Given the description of an element on the screen output the (x, y) to click on. 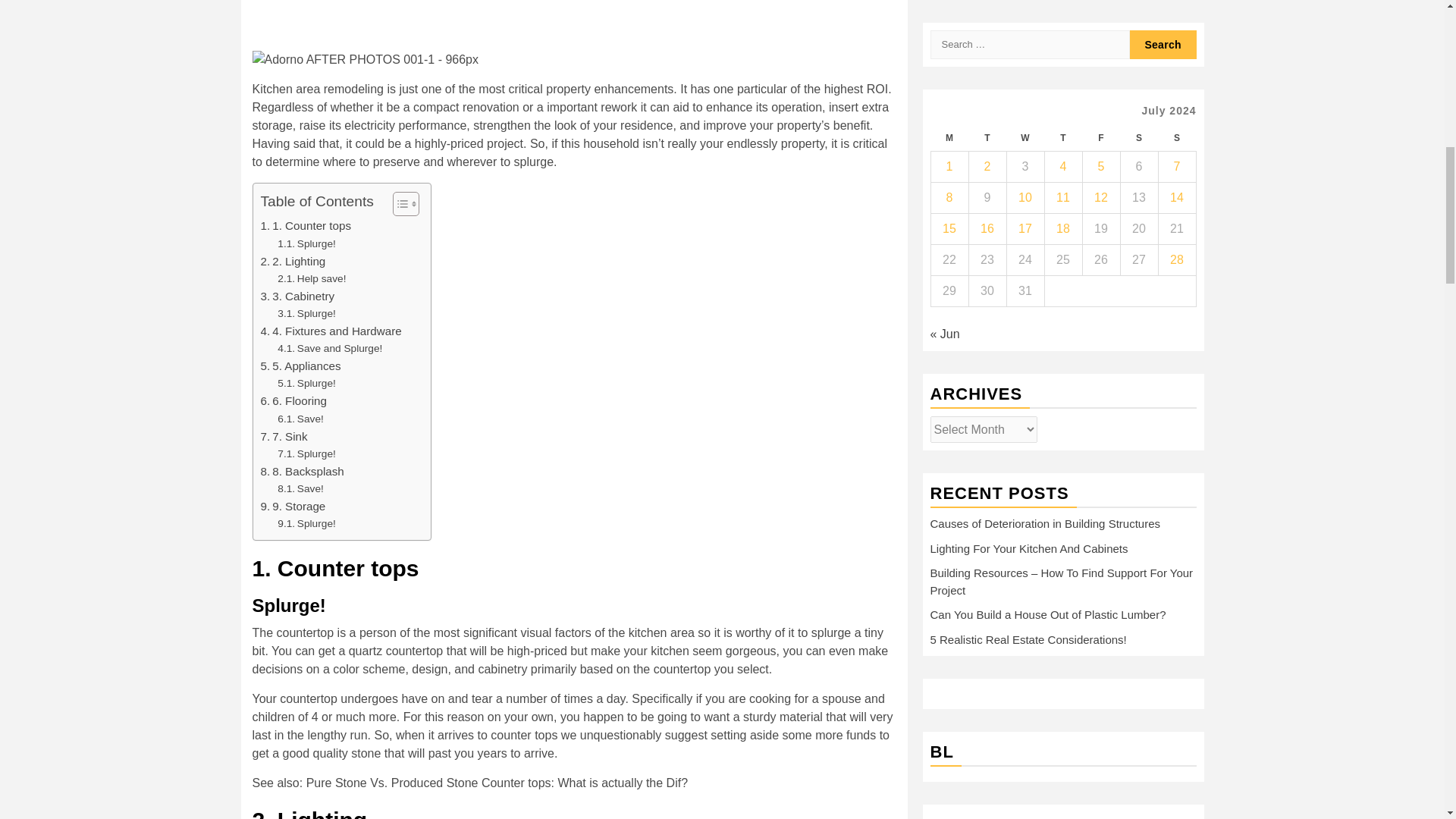
8. Backsplash (301, 471)
Splurge! (307, 523)
6. Flooring (293, 401)
Save and Splurge! (329, 348)
Save! (300, 419)
2. Lighting (293, 261)
Splurge! (307, 243)
Splurge! (307, 383)
Splurge! (307, 453)
4. Fixtures and Hardware (330, 331)
Splurge! (307, 383)
Save! (300, 419)
6. Flooring (293, 401)
5. Appliances (300, 366)
Splurge! (307, 243)
